Given the description of an element on the screen output the (x, y) to click on. 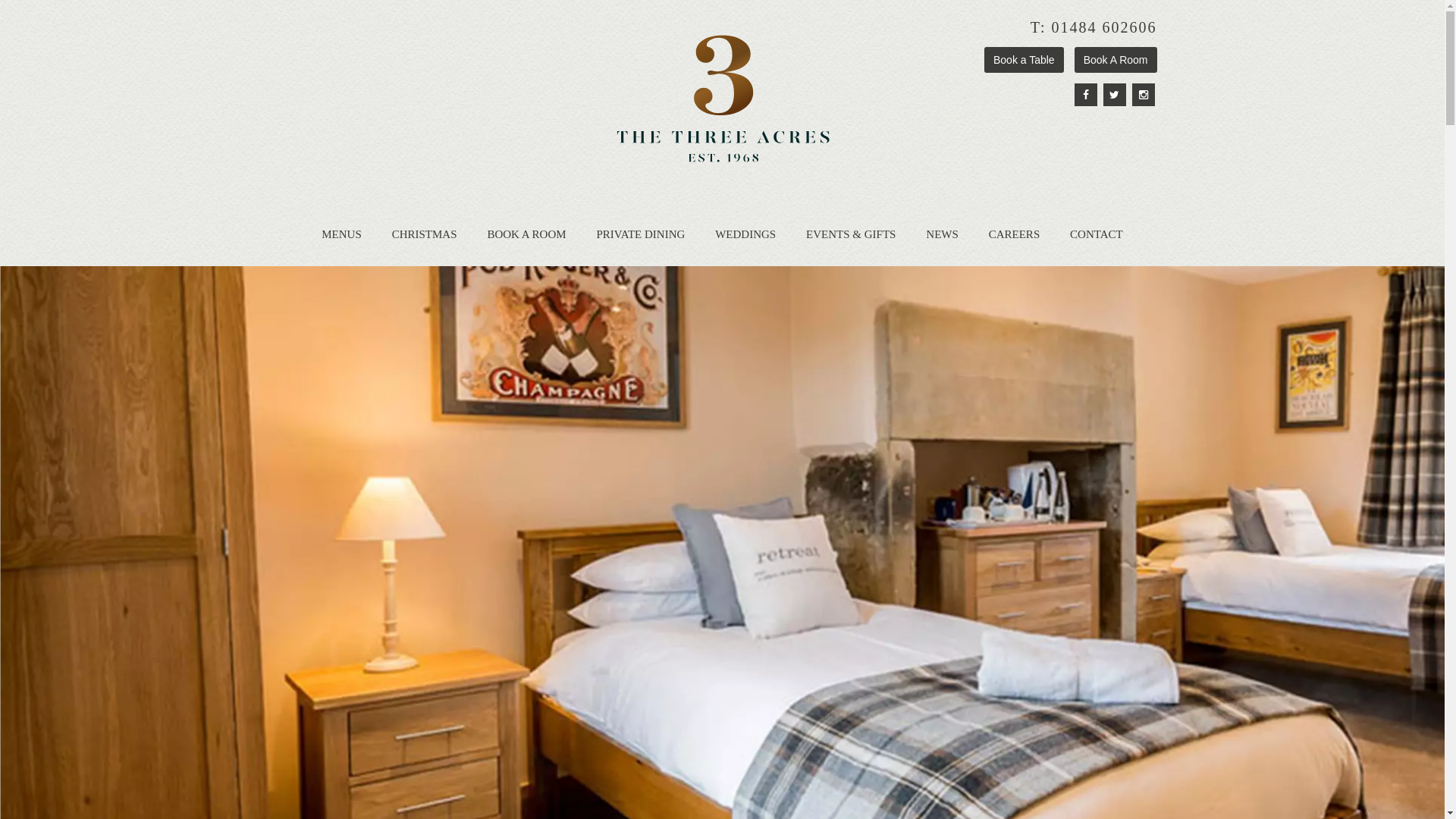
MENUS Element type: text (341, 234)
BOOK A ROOM Element type: text (525, 234)
01484 602606 Element type: text (1103, 26)
CHRISTMAS Element type: text (424, 234)
Book a Table Element type: text (1023, 59)
EVENTS & GIFTS Element type: text (850, 234)
NEWS Element type: text (941, 234)
CAREERS Element type: text (1014, 234)
WEDDINGS Element type: text (745, 234)
Book A Room Element type: text (1115, 59)
CONTACT Element type: text (1096, 234)
PRIVATE DINING Element type: text (640, 234)
